Given the description of an element on the screen output the (x, y) to click on. 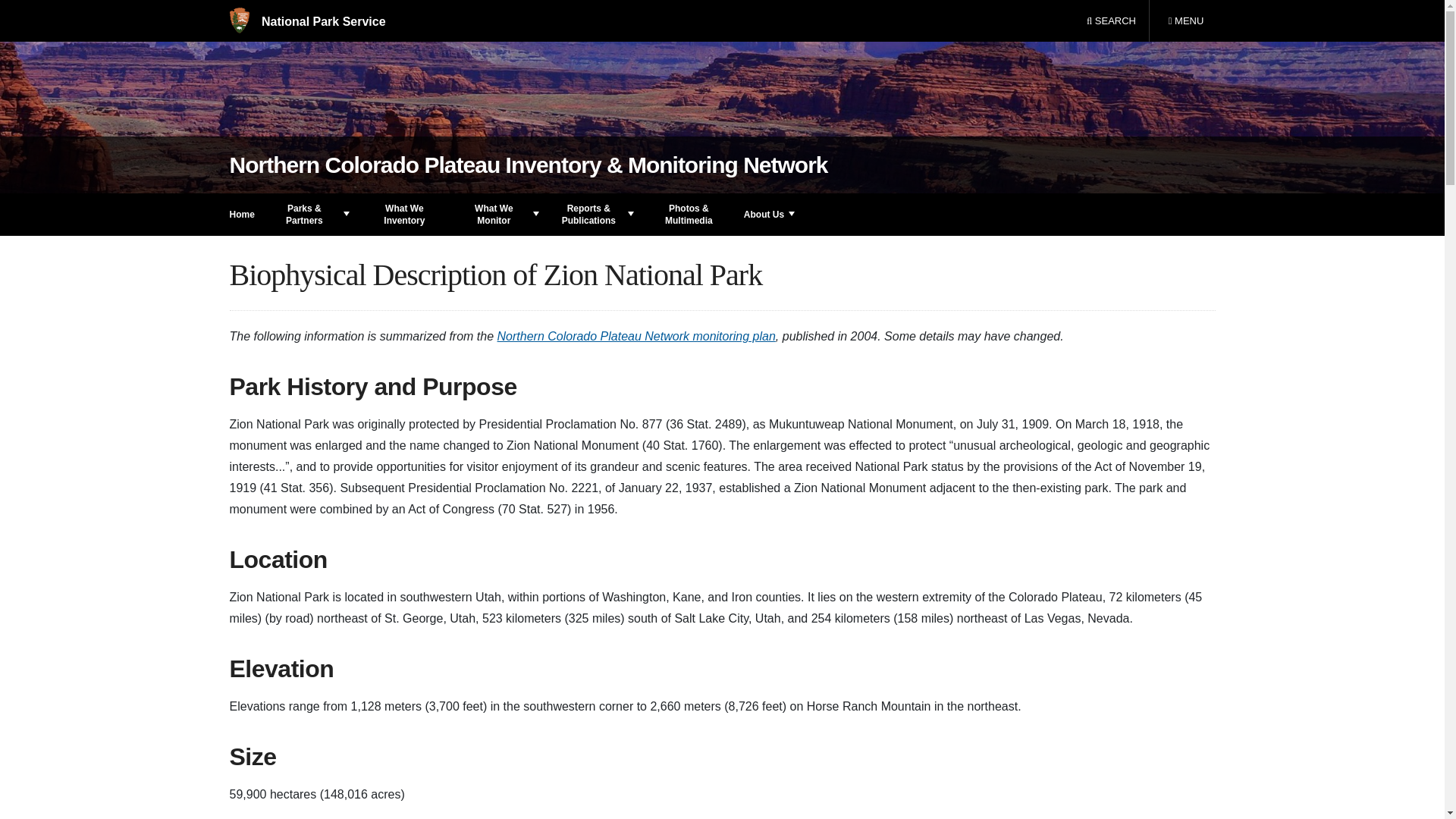
National Park Service (1185, 20)
SEARCH (307, 20)
